Given the description of an element on the screen output the (x, y) to click on. 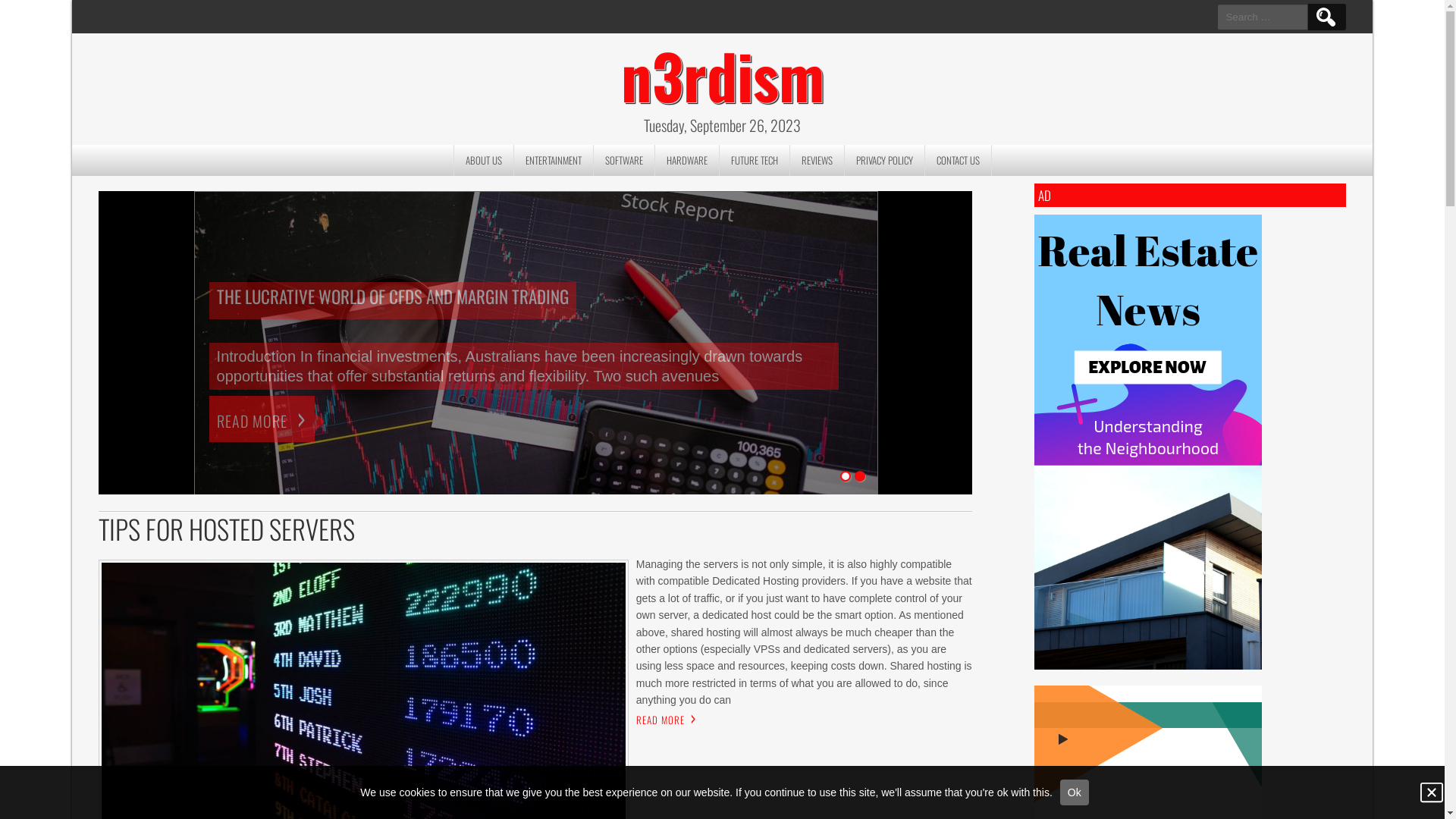
PRIVACY POLICY Element type: text (884, 159)
TIPS FOR HOSTED SERVERS Element type: text (535, 529)
READ MORE Element type: text (261, 418)
READ MORE Element type: text (660, 719)
SOFTWARE Element type: text (623, 159)
THE LUCRATIVE WORLD OF CFDS AND MARGIN TRADING Element type: text (392, 300)
FUTURE TECH Element type: text (753, 159)
Ok Element type: text (1074, 792)
n3rdism Element type: text (722, 71)
HARDWARE Element type: text (687, 159)
CONTACT US Element type: text (958, 159)
ABOUT US Element type: text (483, 159)
REVIEWS Element type: text (817, 159)
Search Element type: text (1325, 16)
ENTERTAINMENT Element type: text (553, 159)
